Given the description of an element on the screen output the (x, y) to click on. 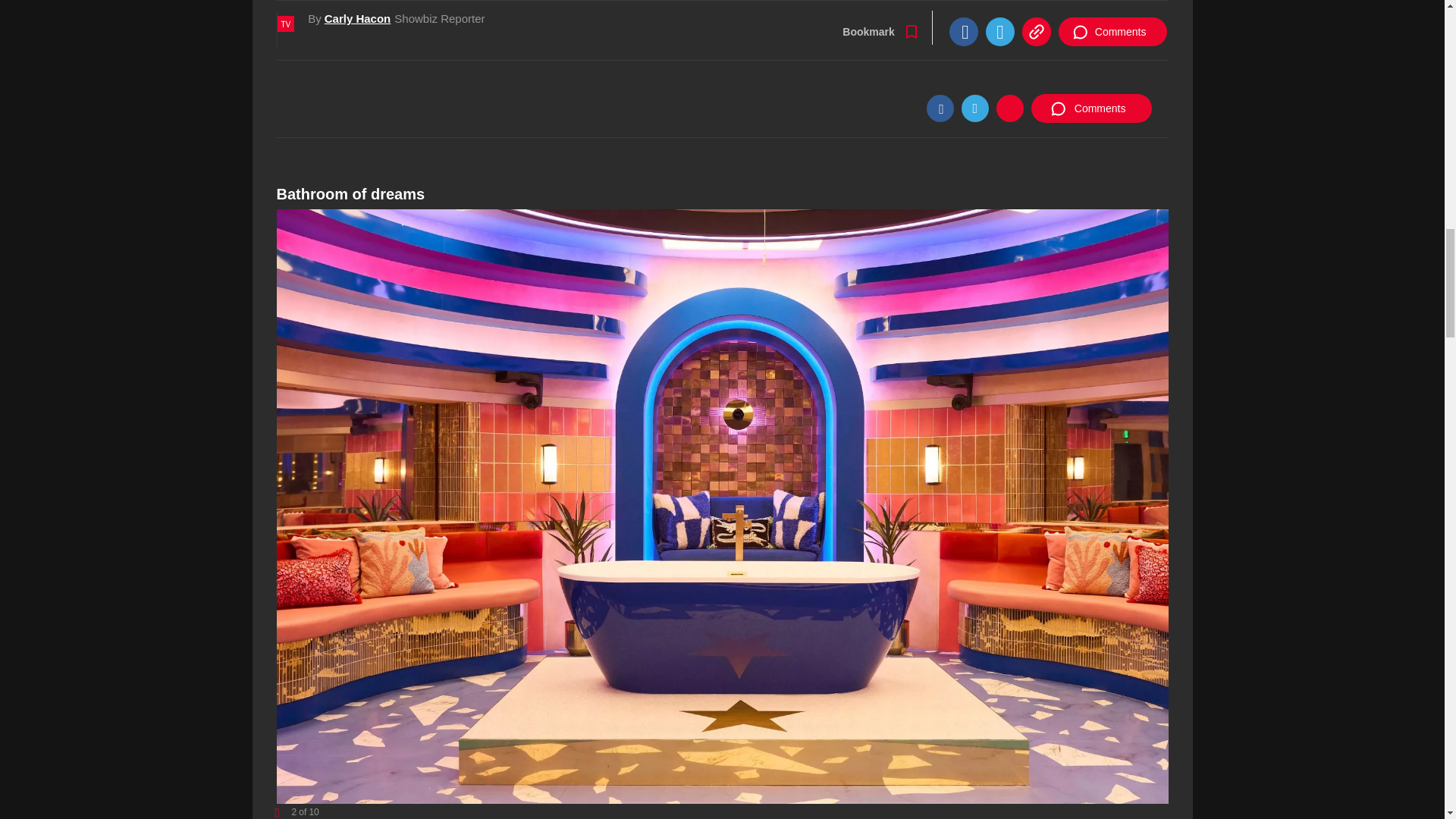
Twitter (974, 108)
Facebook (939, 108)
Comments (1090, 108)
